Given the description of an element on the screen output the (x, y) to click on. 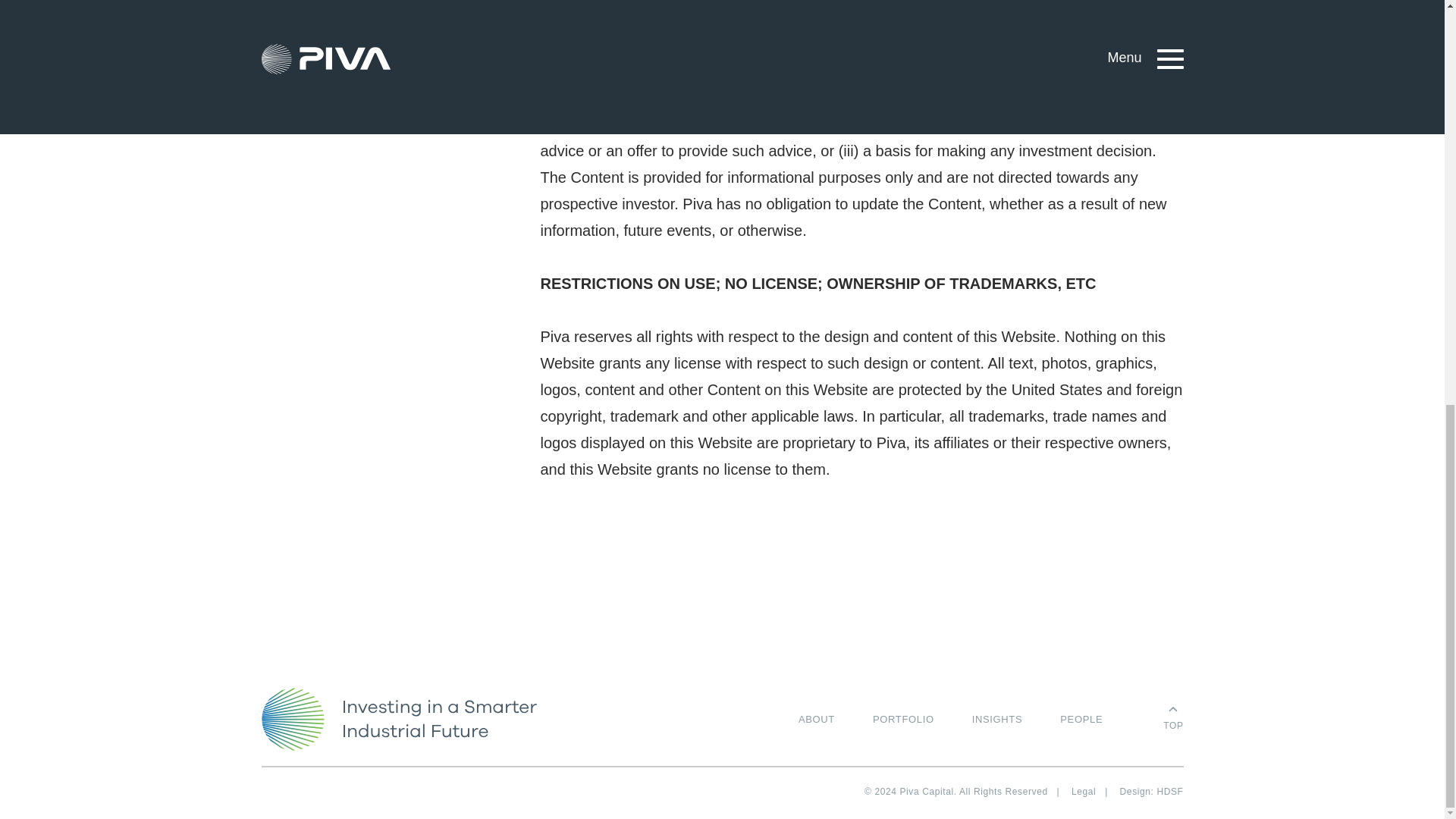
PORTFOLIO (903, 718)
ABOUT (815, 718)
INSIGHTS (997, 718)
HDSF (1169, 791)
Legal (1083, 791)
PEOPLE (1080, 718)
